Given the description of an element on the screen output the (x, y) to click on. 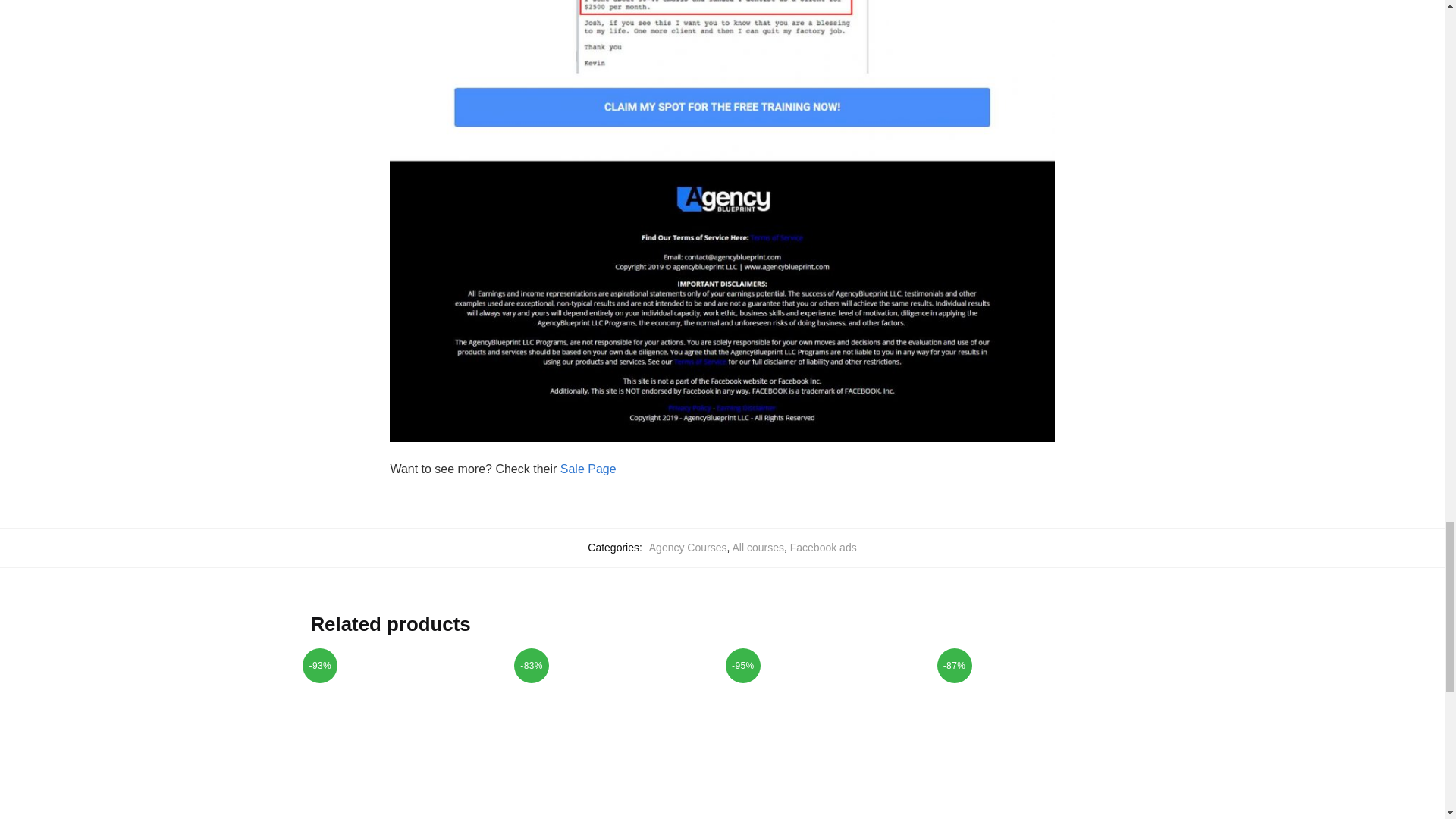
All courses (758, 547)
Facebook ads (823, 547)
Sale Page (587, 468)
Agency Courses (687, 547)
